Given the description of an element on the screen output the (x, y) to click on. 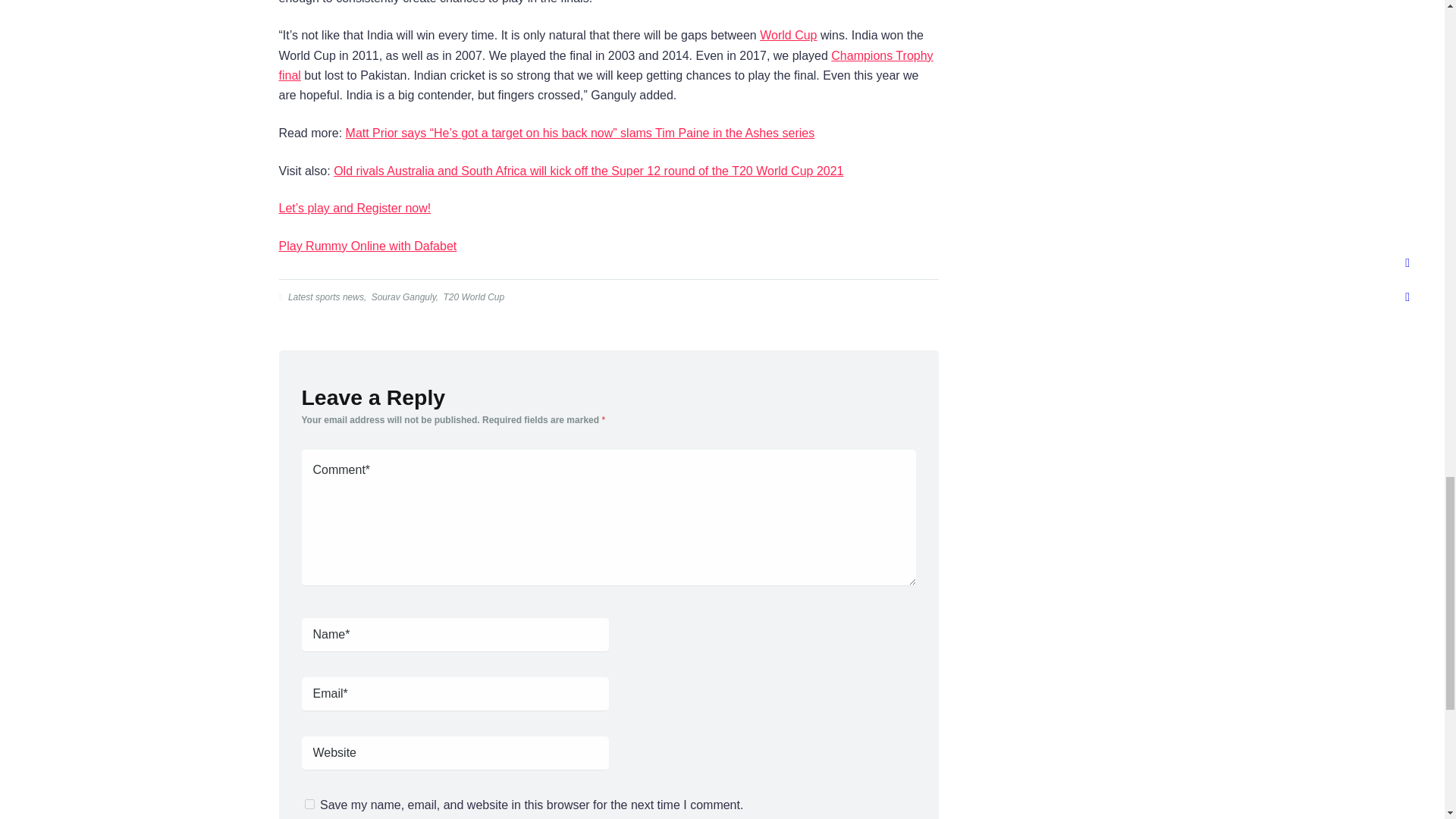
Latest sports news (324, 296)
yes (309, 804)
Champions Trophy final (606, 65)
Play Rummy Online with Dafabet (368, 245)
T20 World Cup (472, 296)
Sourav Ganguly (402, 296)
World Cup (788, 34)
